Given the description of an element on the screen output the (x, y) to click on. 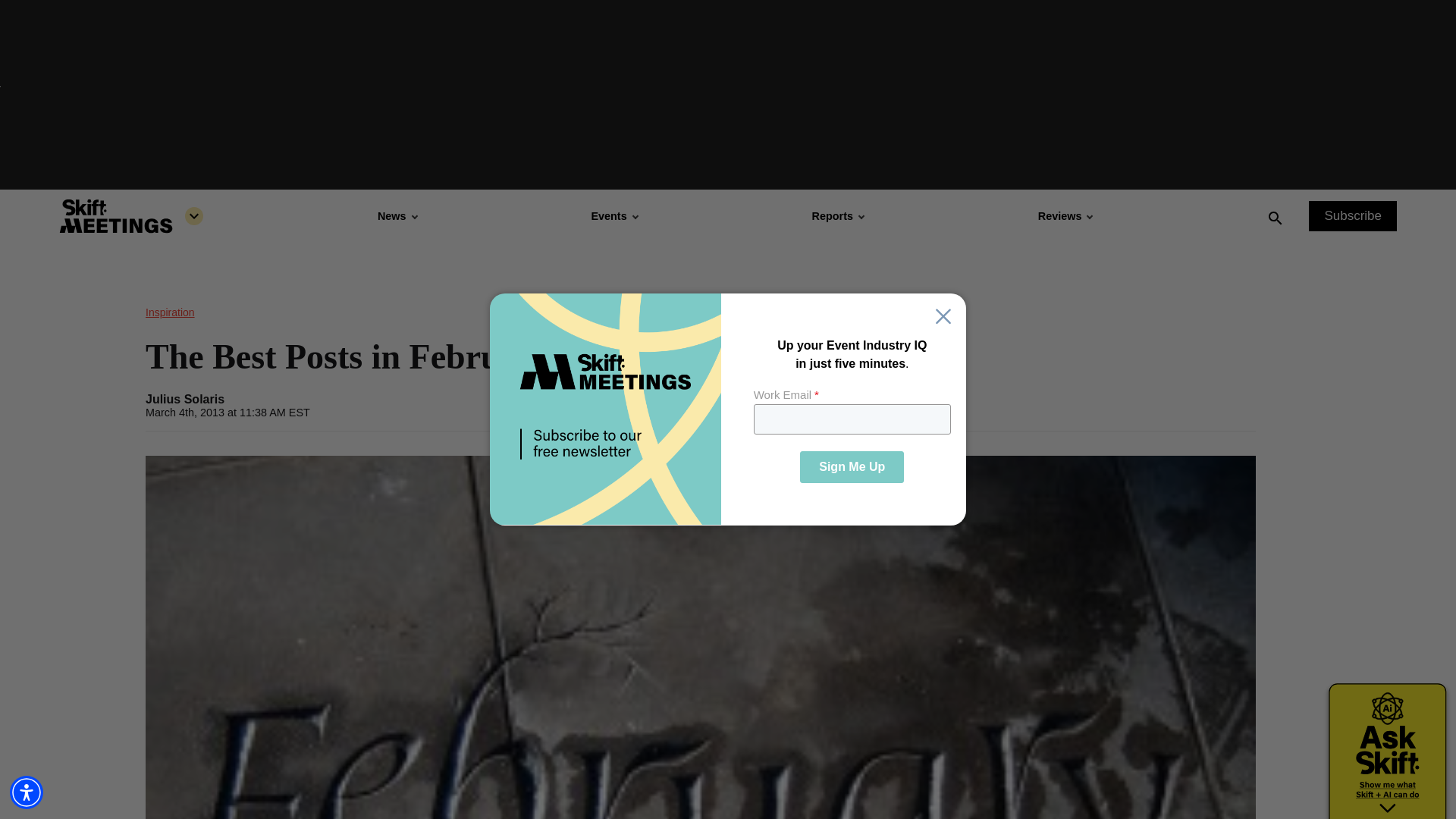
Reports (837, 215)
Popup CTA (727, 409)
Reviews (1065, 215)
Subscribe (1352, 215)
Accessibility Menu (26, 792)
